Given the description of an element on the screen output the (x, y) to click on. 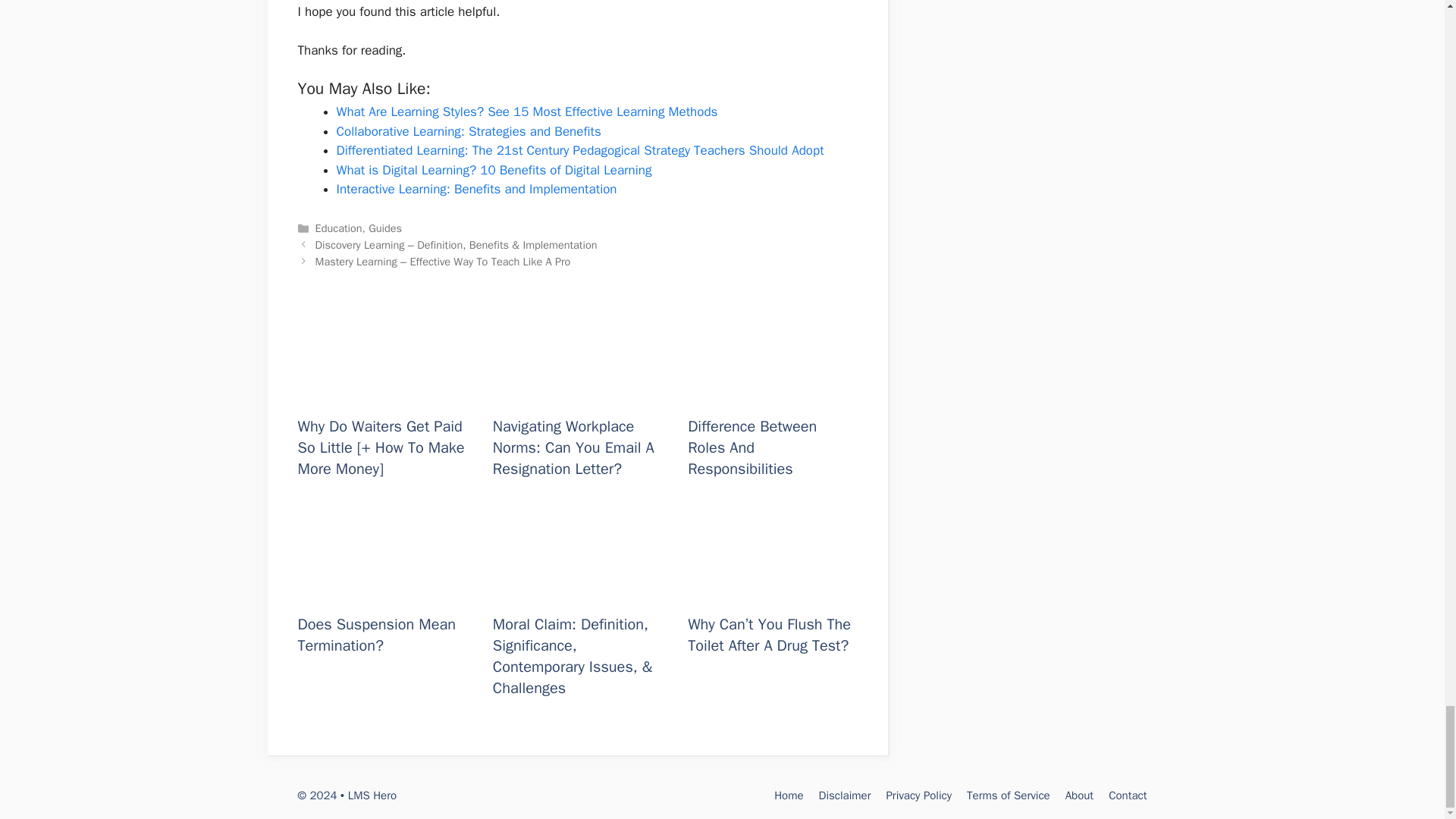
Collaborative Learning: Strategies and Benefits (468, 131)
What is Digital Learning? 10 Benefits of Digital Learning (494, 169)
Difference Between Roles And Responsibilities (772, 393)
Does Suspension Mean Termination? (381, 590)
Interactive Learning: Benefits and Implementation (476, 188)
